Given the description of an element on the screen output the (x, y) to click on. 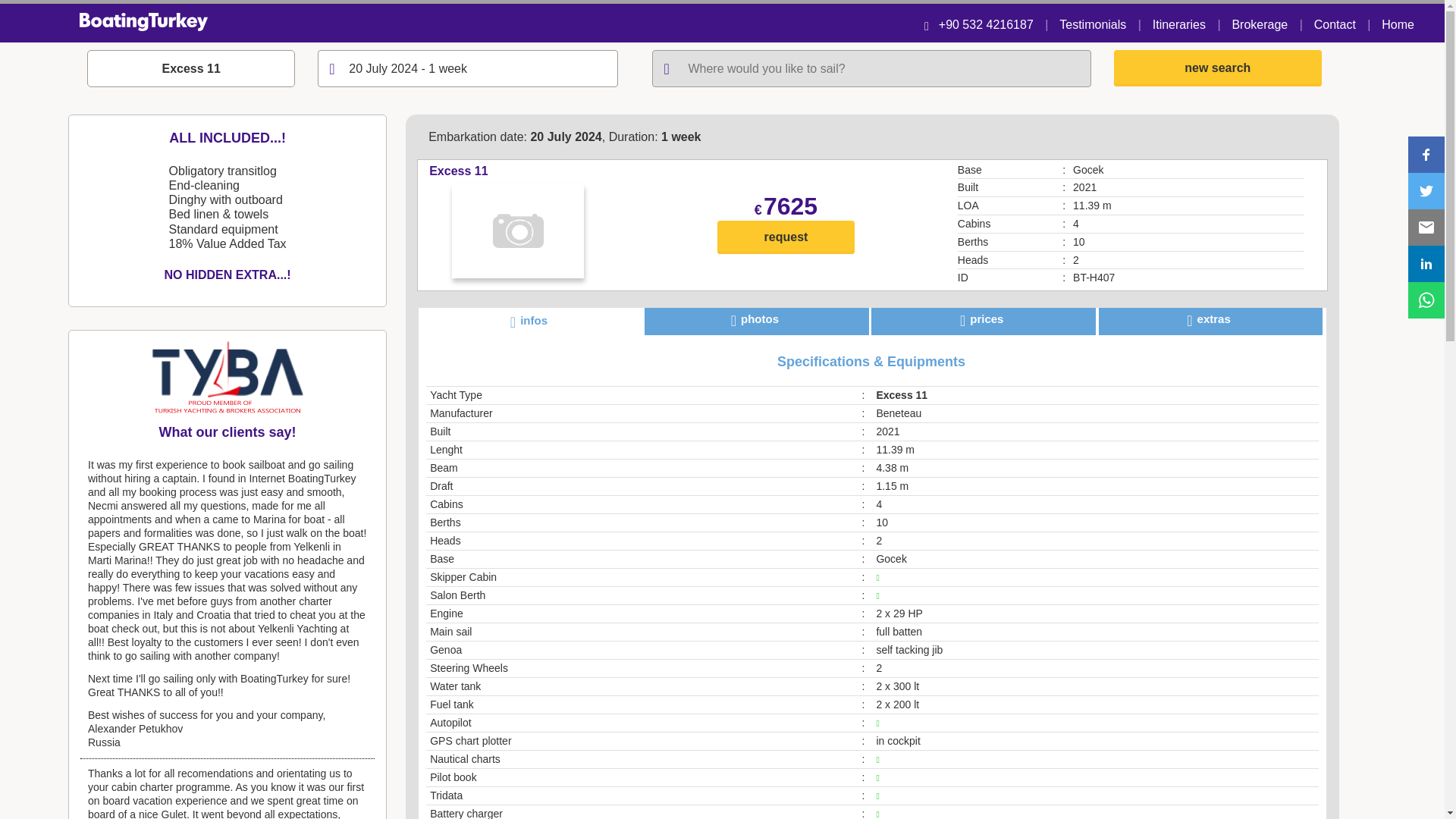
Brokerage (1259, 24)
new search (1217, 67)
Testimonials (1092, 24)
Contact (1334, 24)
Contact (1334, 24)
Home (1397, 24)
Itineraries (1179, 24)
boatingturkey.net (722, 24)
Telephone (986, 24)
Testimonials (1092, 24)
20 July 2024 - 1 week (467, 67)
Brokerage (1259, 24)
itineraries (1179, 24)
Home (1397, 24)
